Given the description of an element on the screen output the (x, y) to click on. 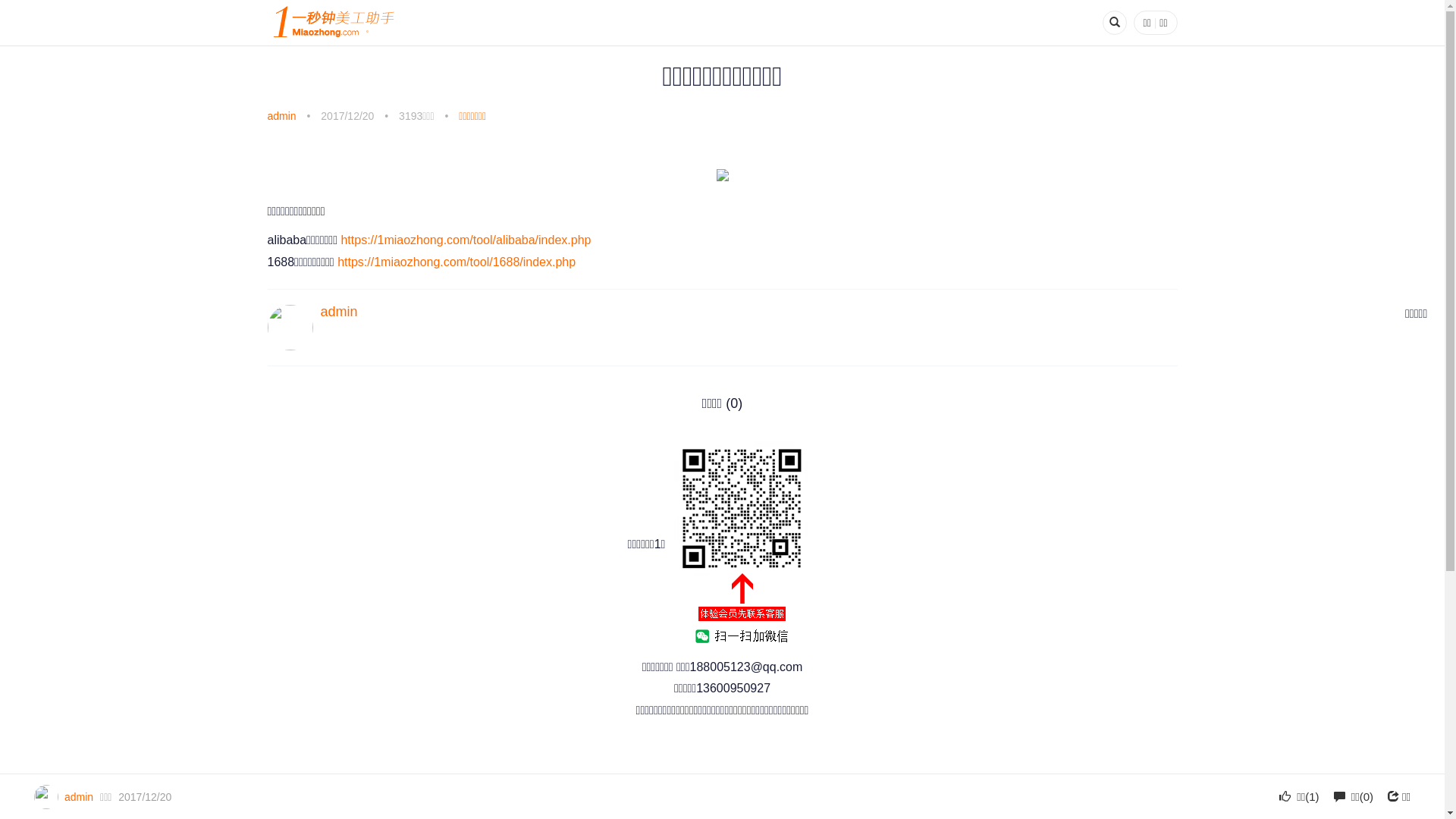
admin Element type: text (78, 796)
admin Element type: text (280, 115)
https://1miaozhong.com/tool/alibaba/index.php Element type: text (465, 239)
   Element type: hover (740, 545)
https://1miaozhong.com/tool/1688/index.php Element type: text (456, 261)
admin Element type: text (338, 311)
